Given the description of an element on the screen output the (x, y) to click on. 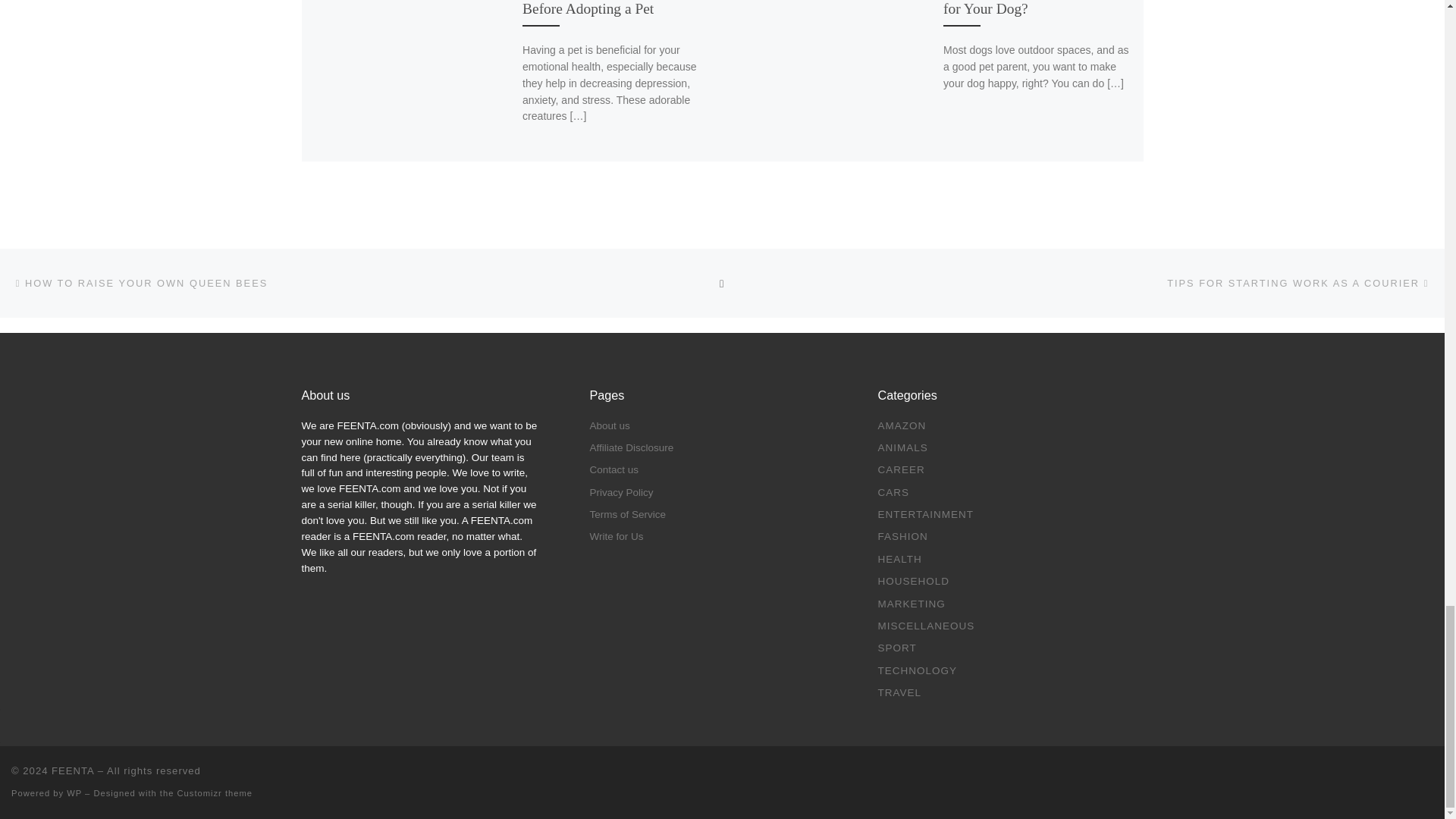
4 Questions to Ask Yourself Before Adopting a Pet (604, 8)
What is the Best Garden Setup for Your Dog? (1033, 8)
